Given the description of an element on the screen output the (x, y) to click on. 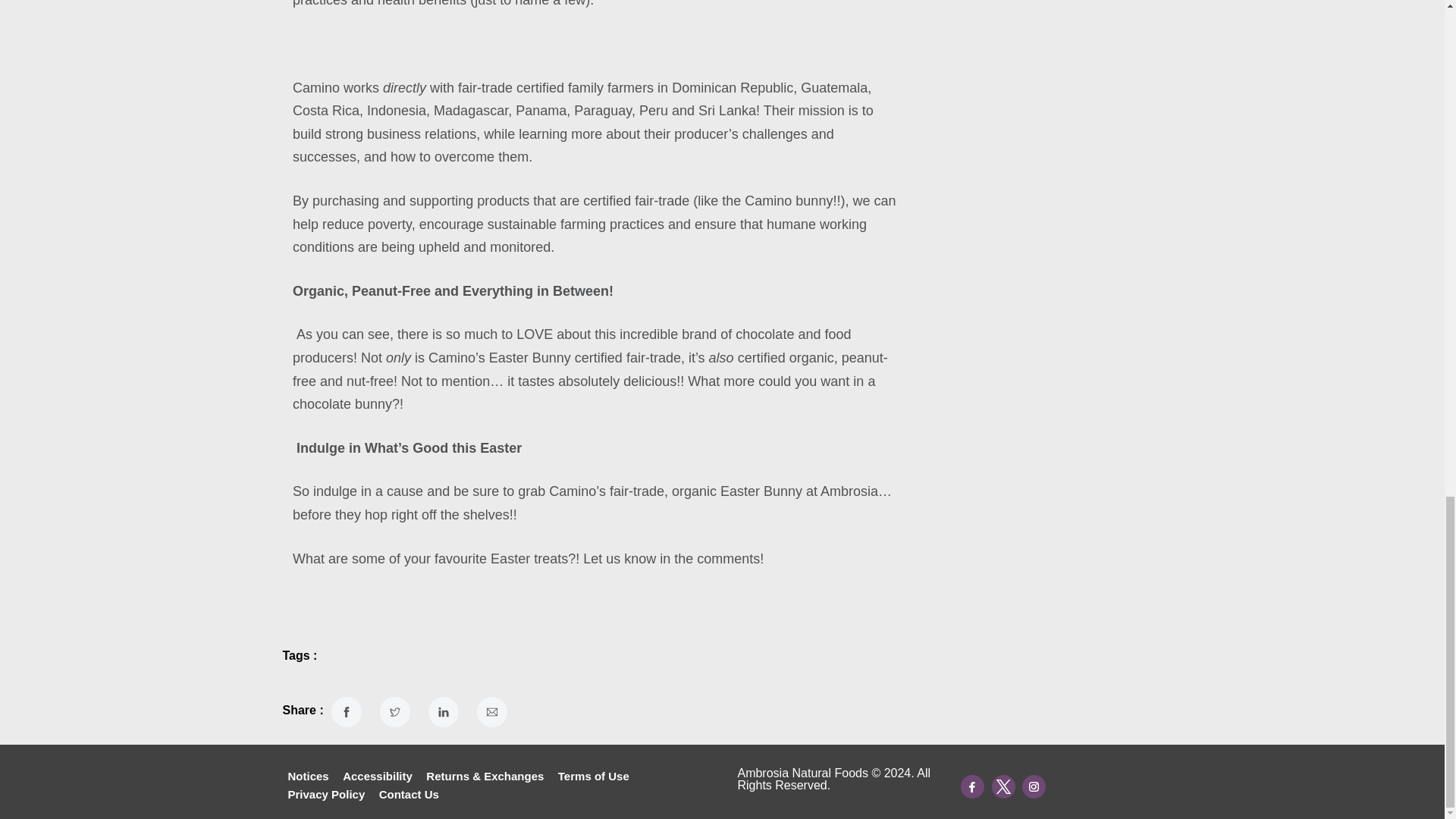
Notices (307, 776)
Accessibility (377, 776)
